Given the description of an element on the screen output the (x, y) to click on. 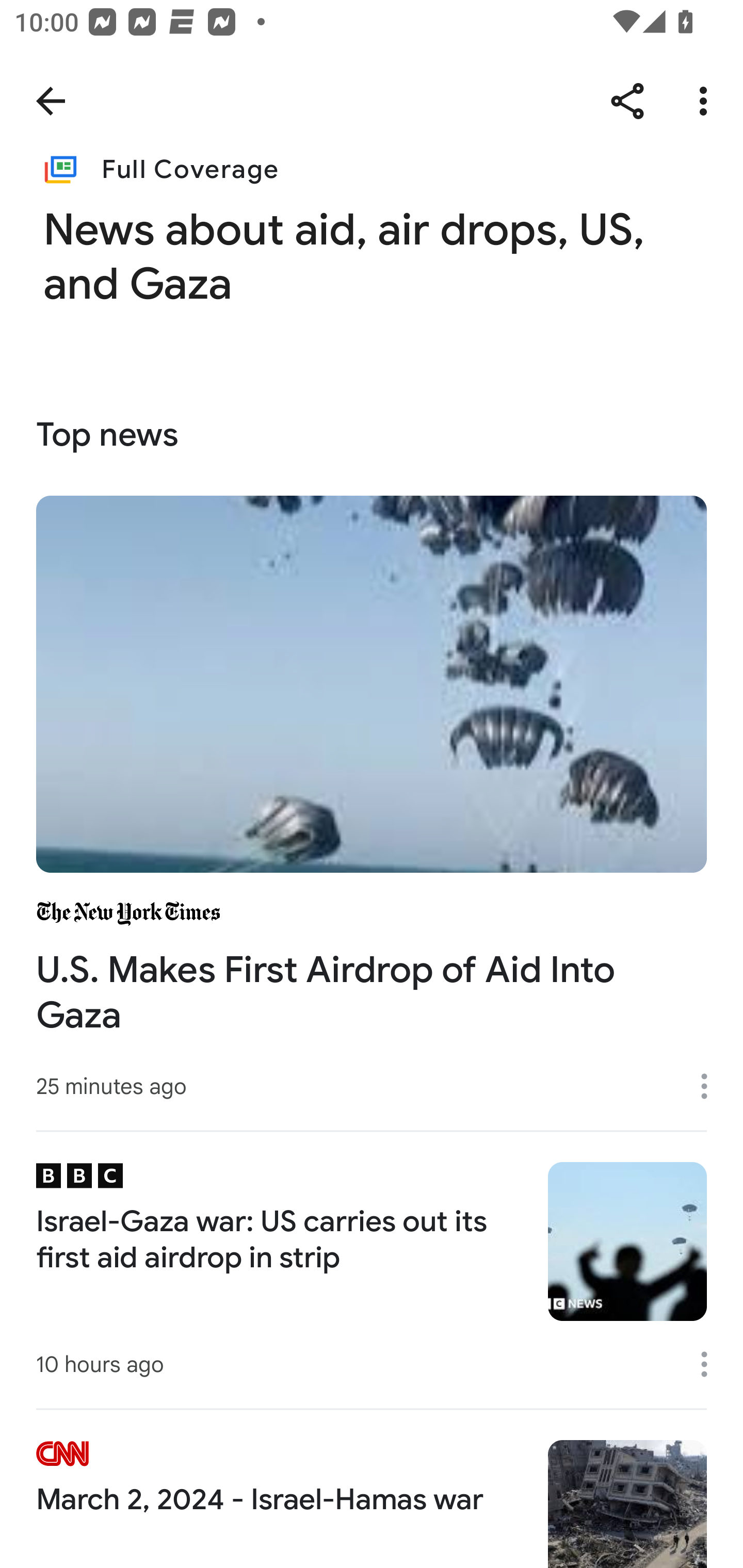
Navigate up (50, 101)
Share (626, 101)
More options (706, 101)
More options (711, 1085)
More options (711, 1364)
CNN March 2, 2024 - Israel-Hamas war (371, 1488)
